Given the description of an element on the screen output the (x, y) to click on. 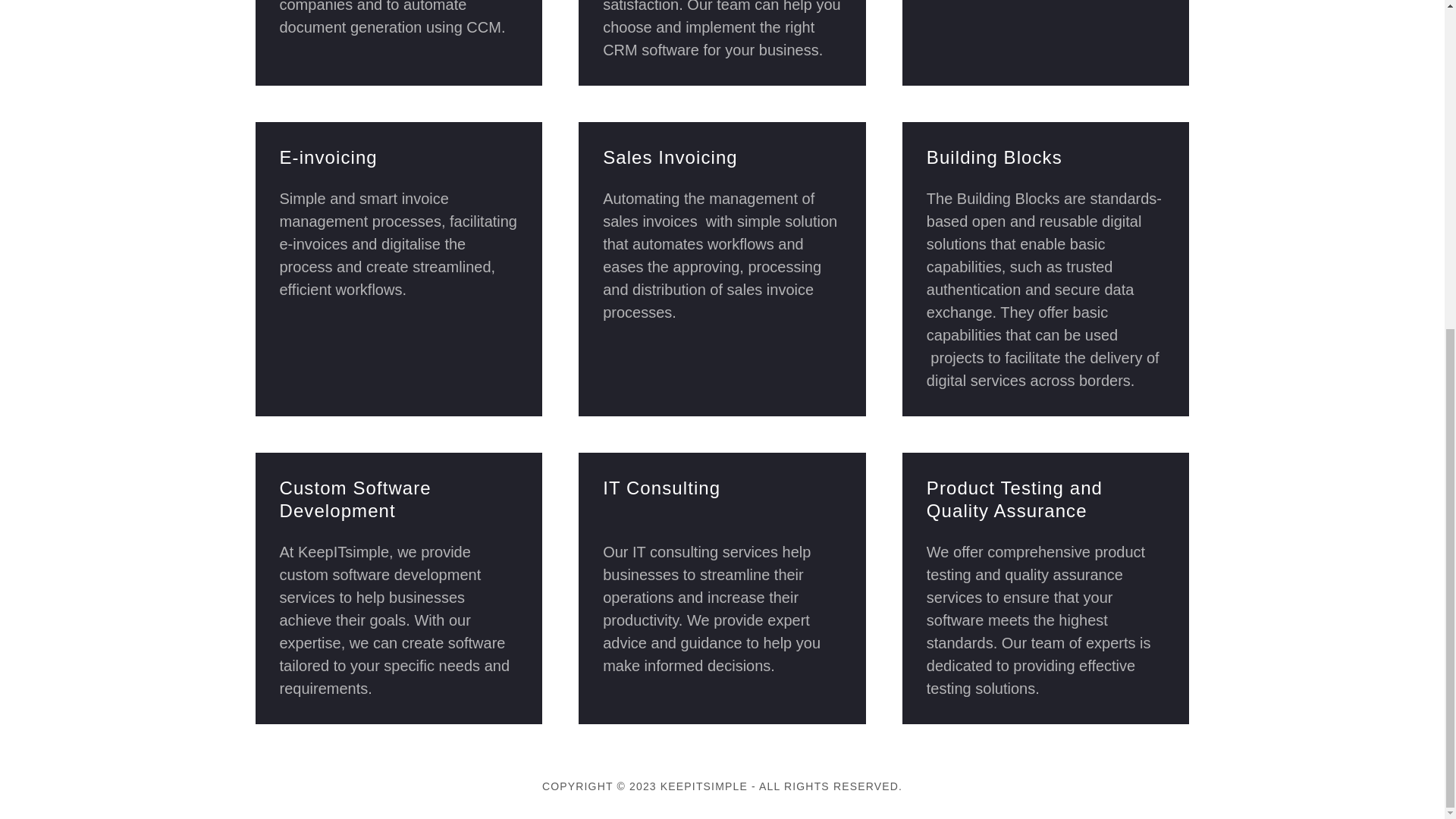
DECLINE (1203, 598)
